Given the description of an element on the screen output the (x, y) to click on. 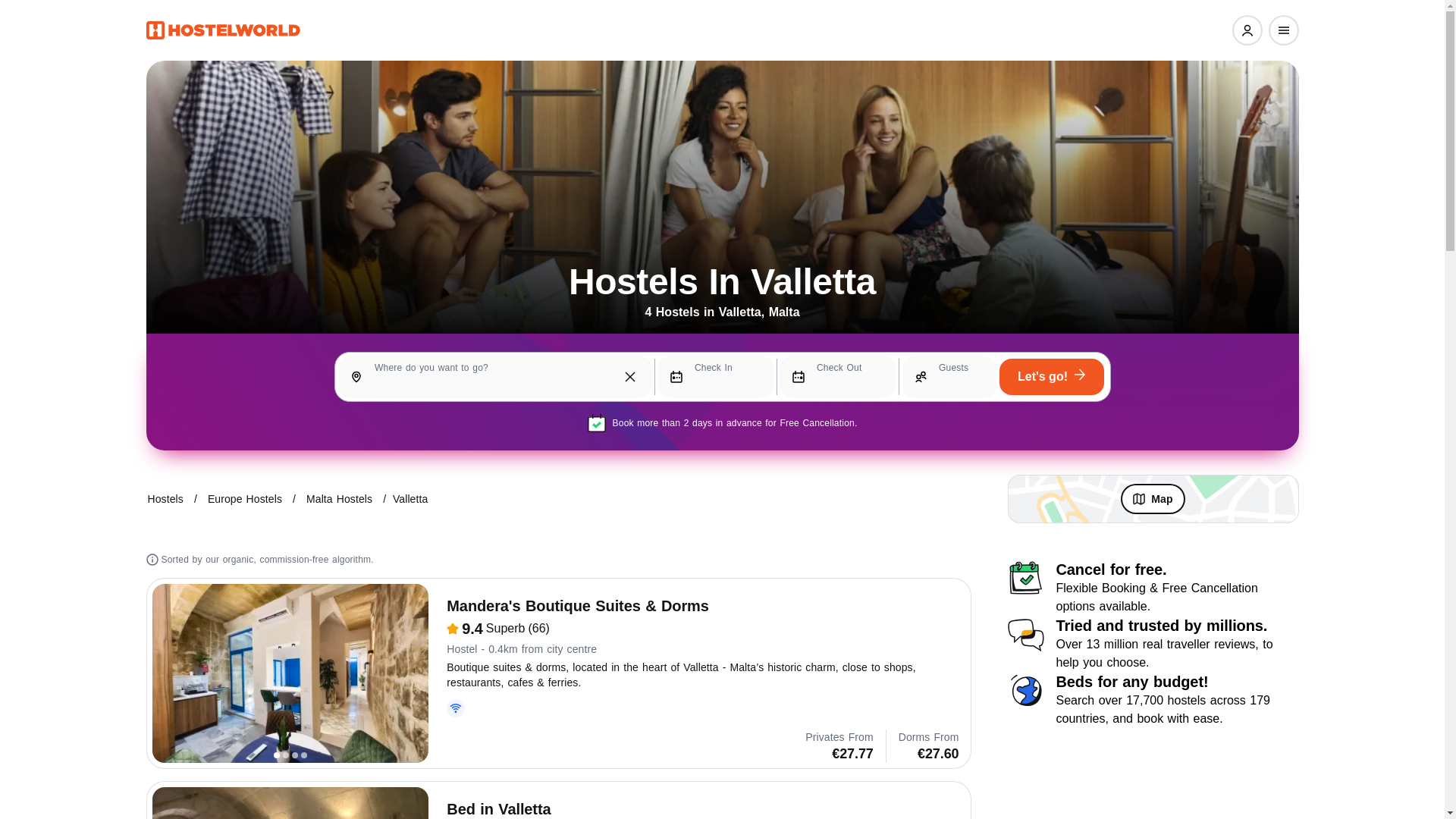
Book Hostels online (164, 498)
Bed in Valletta (289, 803)
calendar-confirmation (1025, 577)
communication (1025, 633)
globe (1025, 689)
Book Hostels in Malta online (339, 498)
calendar-confirmation (597, 423)
Book Hostels in Europe online (244, 498)
Book Hostels in Valletta online (409, 498)
Let's go! (1050, 376)
Hostelworld (222, 30)
